Given the description of an element on the screen output the (x, y) to click on. 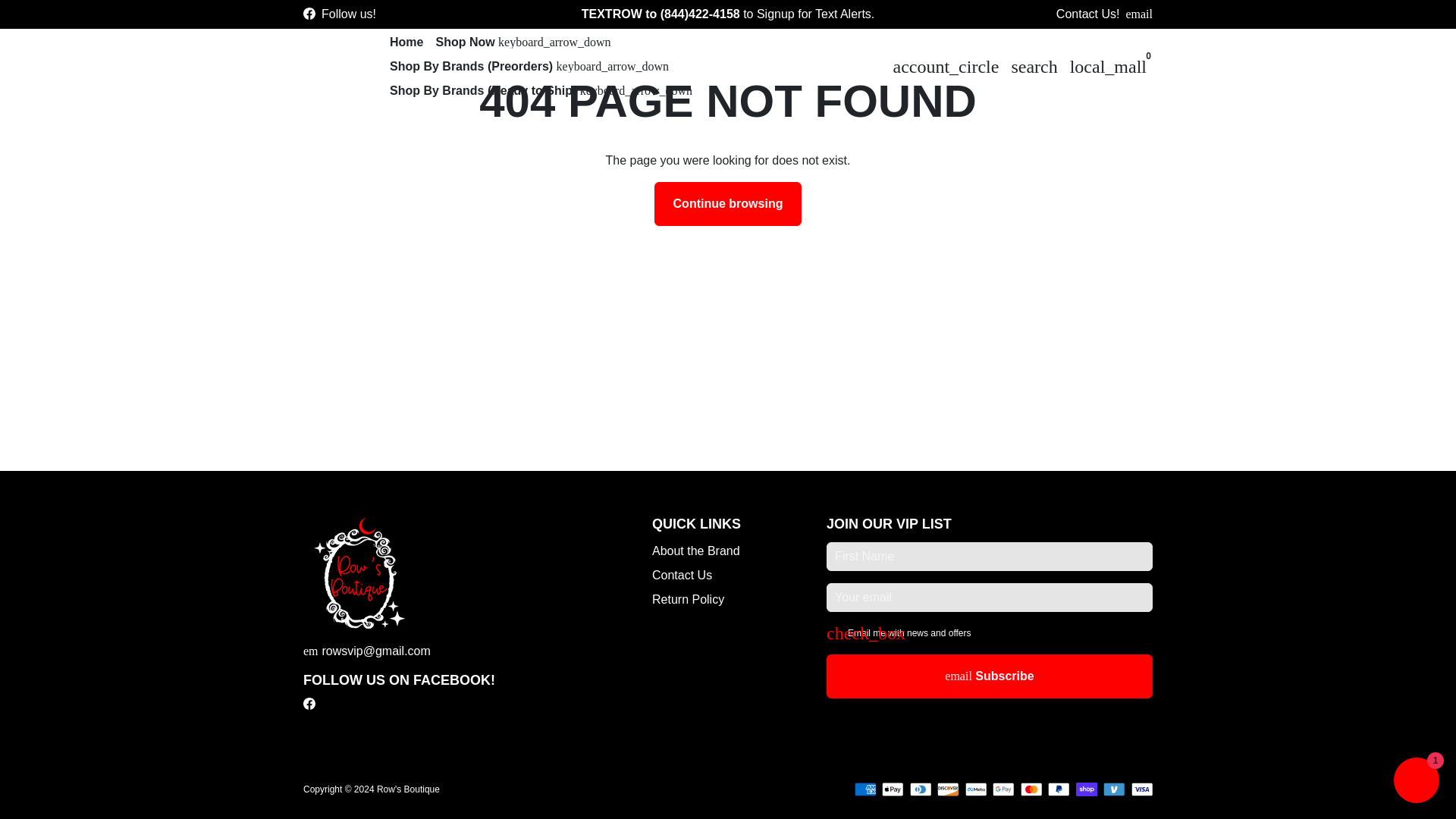
American Express (864, 789)
Mastercard (1031, 789)
Google Pay (1003, 789)
Meta Pay (974, 789)
Shop Pay (1085, 789)
PayPal (1059, 789)
Diners Club (920, 789)
Discover (948, 789)
Venmo (1114, 789)
Apple Pay (893, 789)
Visa (1142, 789)
Log In (945, 66)
Search (1033, 66)
Row's Boutique on Facebook (308, 13)
